Given the description of an element on the screen output the (x, y) to click on. 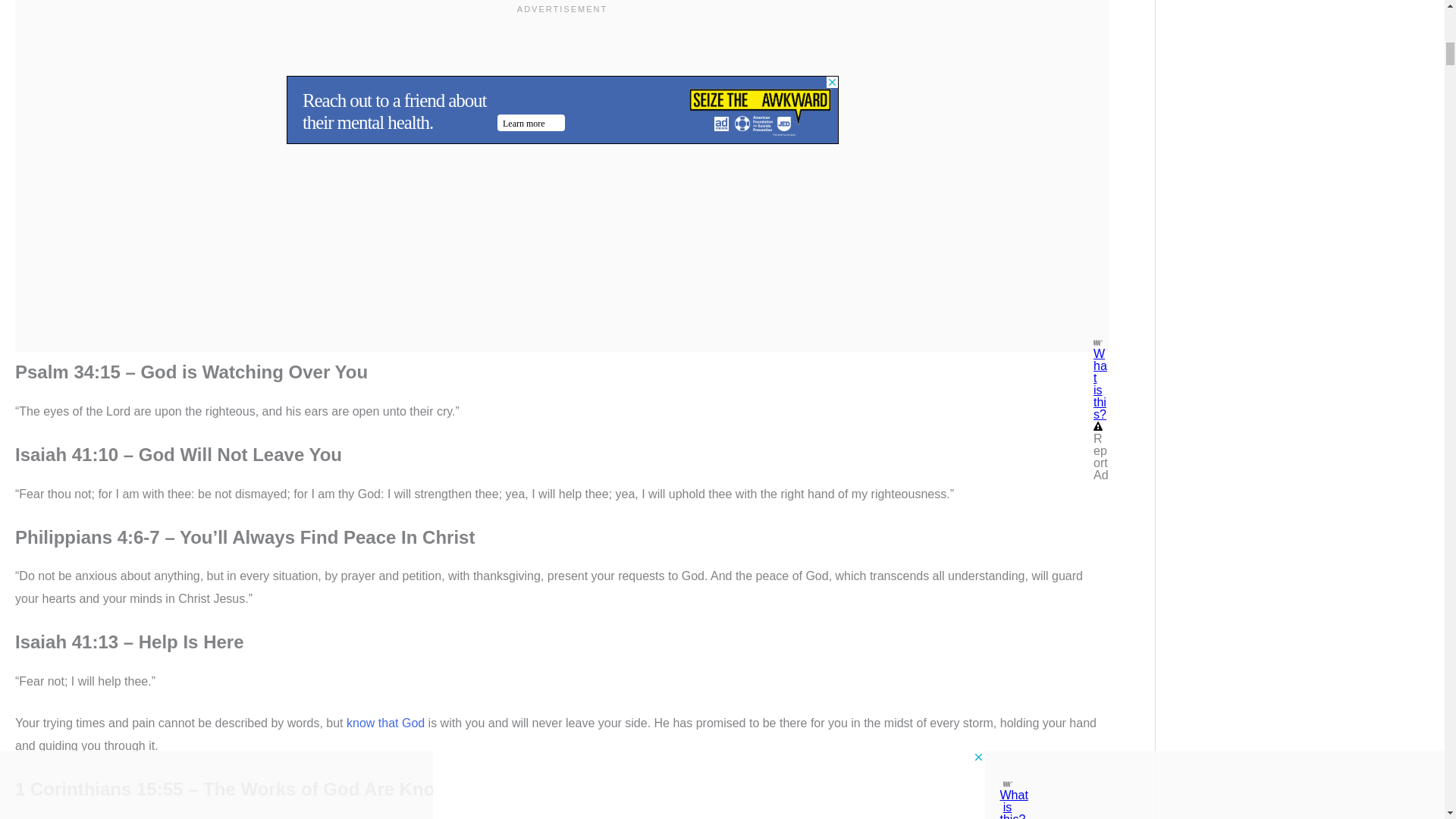
3rd party ad content (562, 52)
know that God (385, 722)
